Given the description of an element on the screen output the (x, y) to click on. 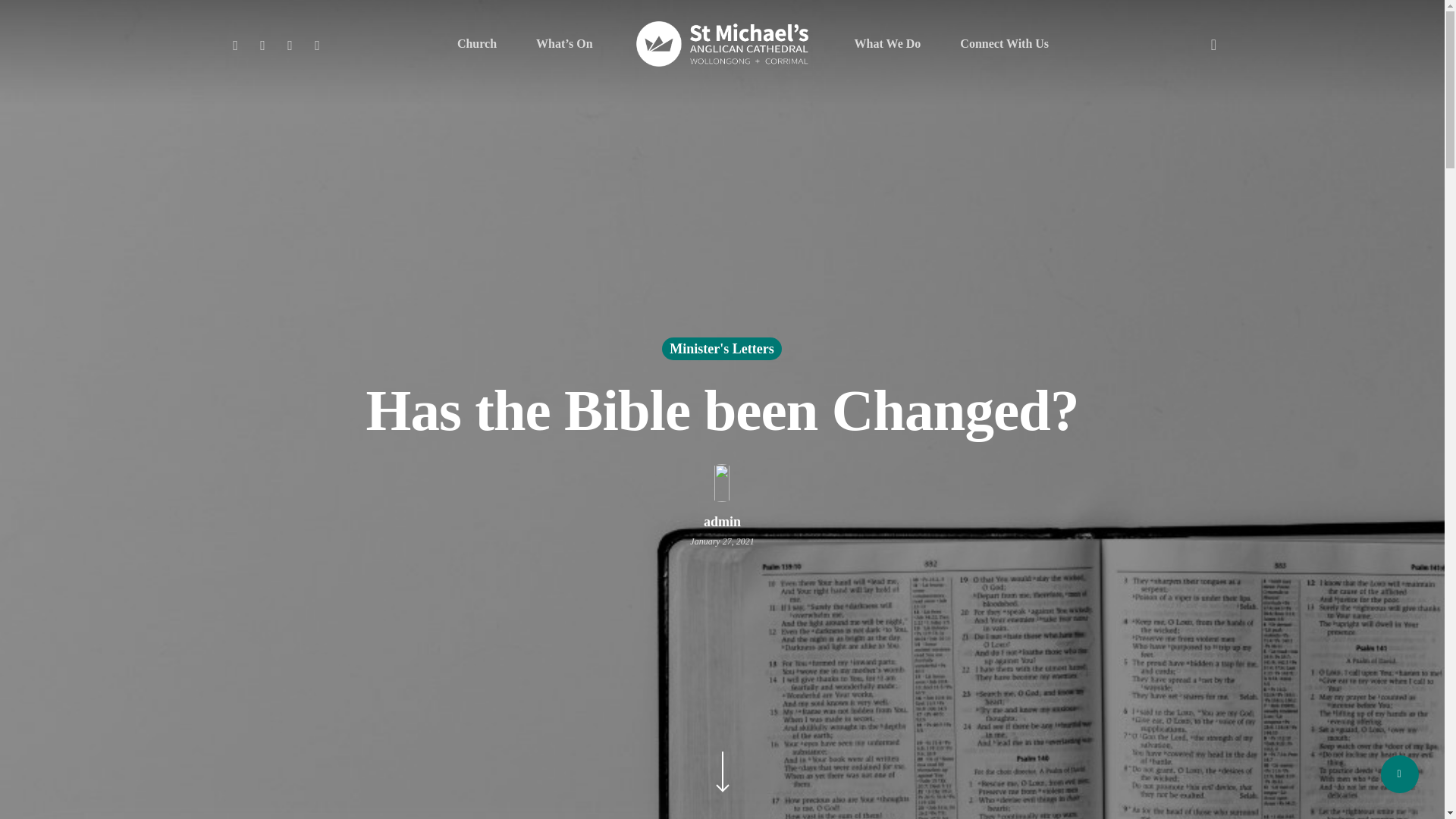
Connect With Us (1003, 43)
What We Do (887, 43)
Church (476, 43)
Posts by admin (722, 521)
